Given the description of an element on the screen output the (x, y) to click on. 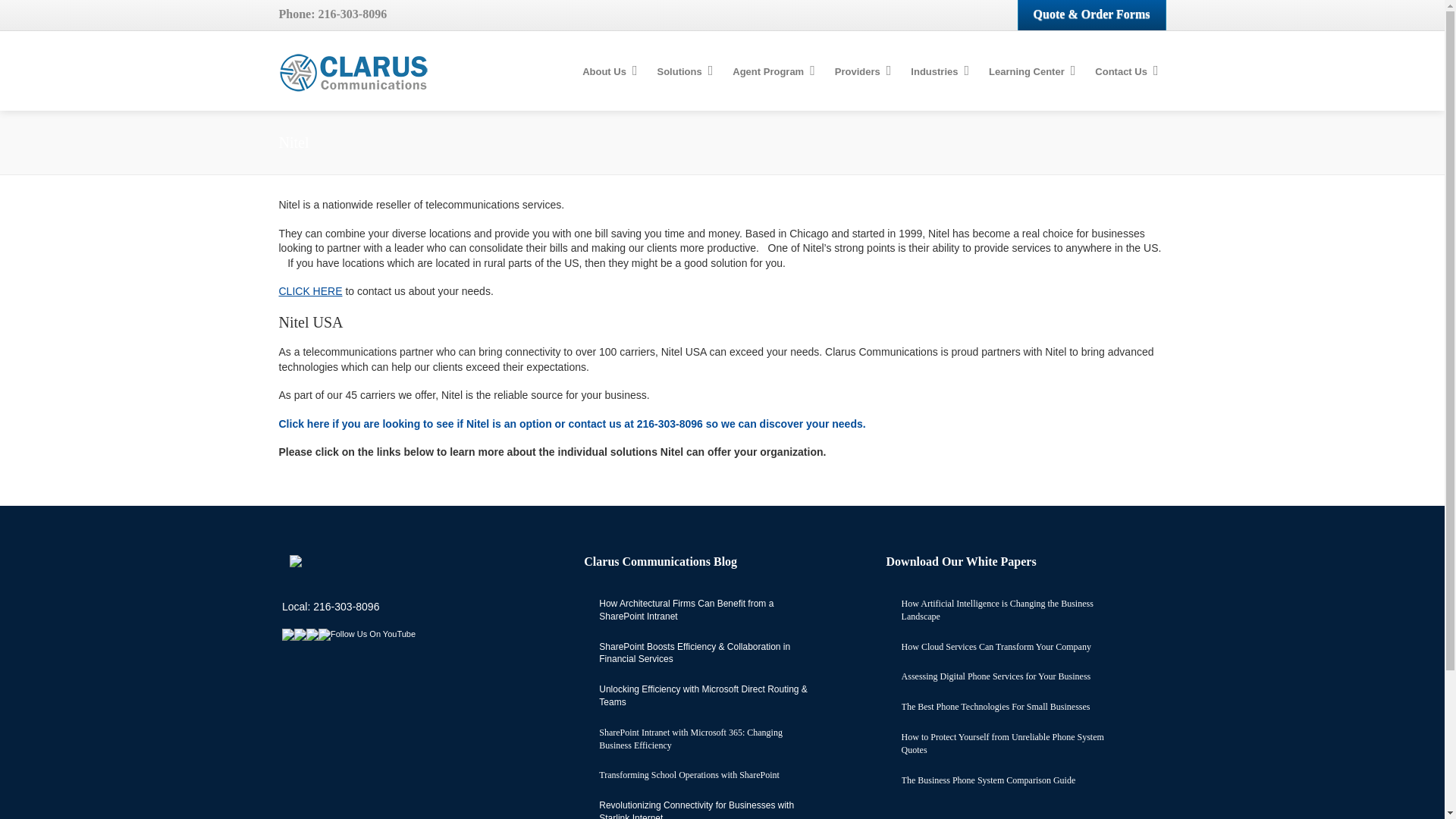
About Us (607, 72)
Solutions (682, 72)
216-303-8096 (352, 13)
